Given the description of an element on the screen output the (x, y) to click on. 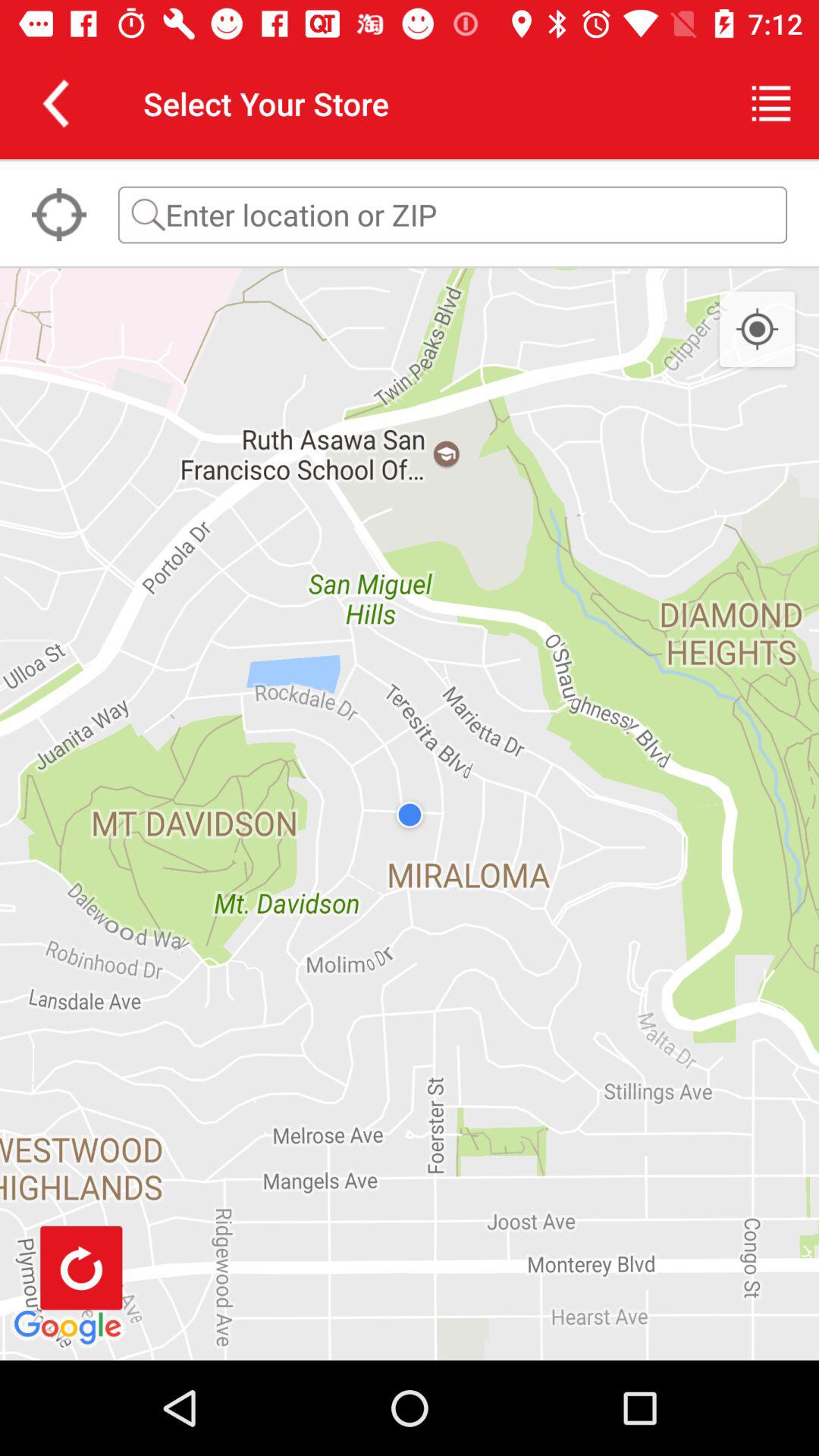
press the icon next to the select your store item (55, 103)
